Given the description of an element on the screen output the (x, y) to click on. 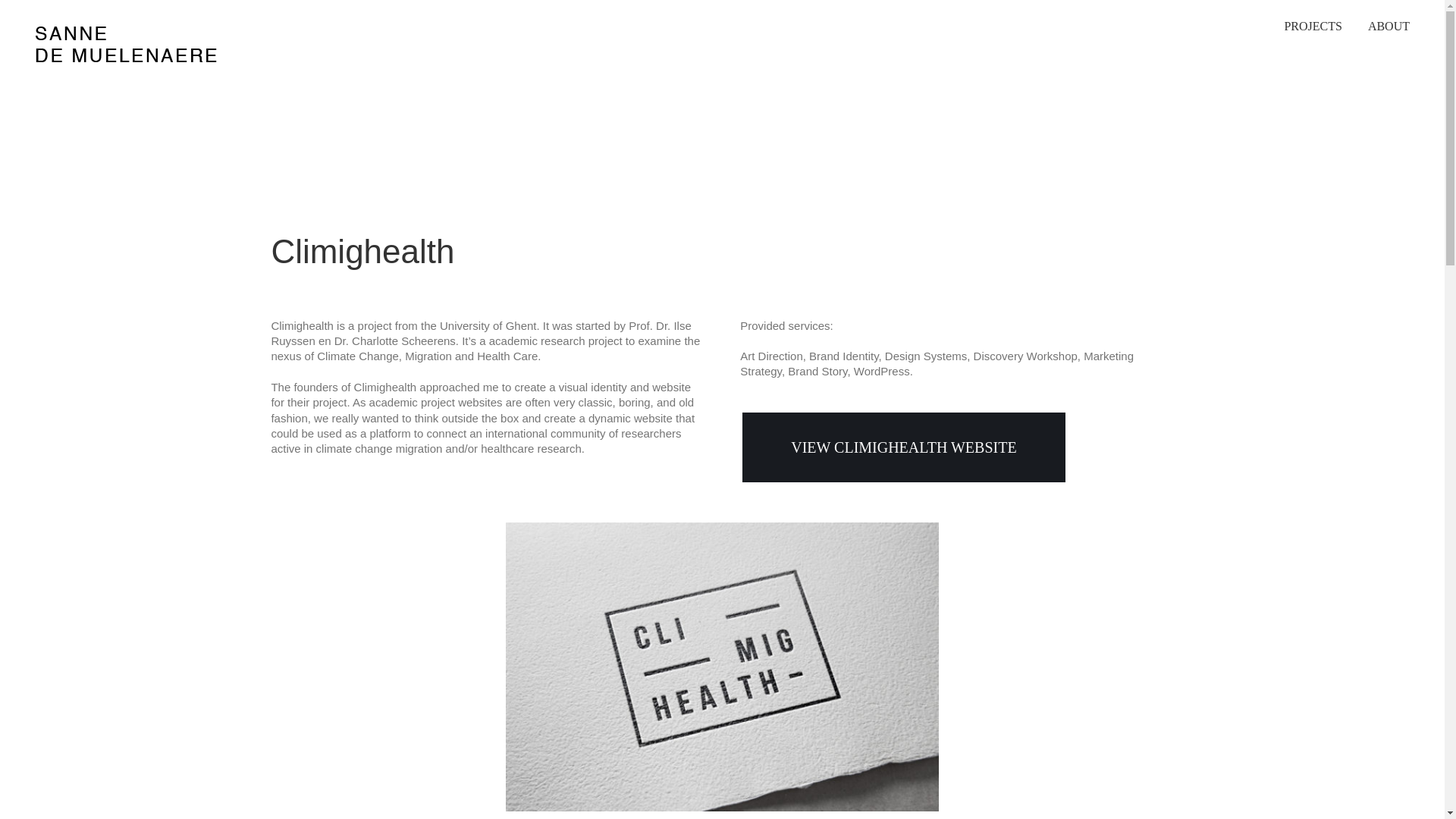
PROJECTS (1312, 26)
VIEW CLIMIGHEALTH WEBSITE (903, 447)
A copy (722, 528)
